Given the description of an element on the screen output the (x, y) to click on. 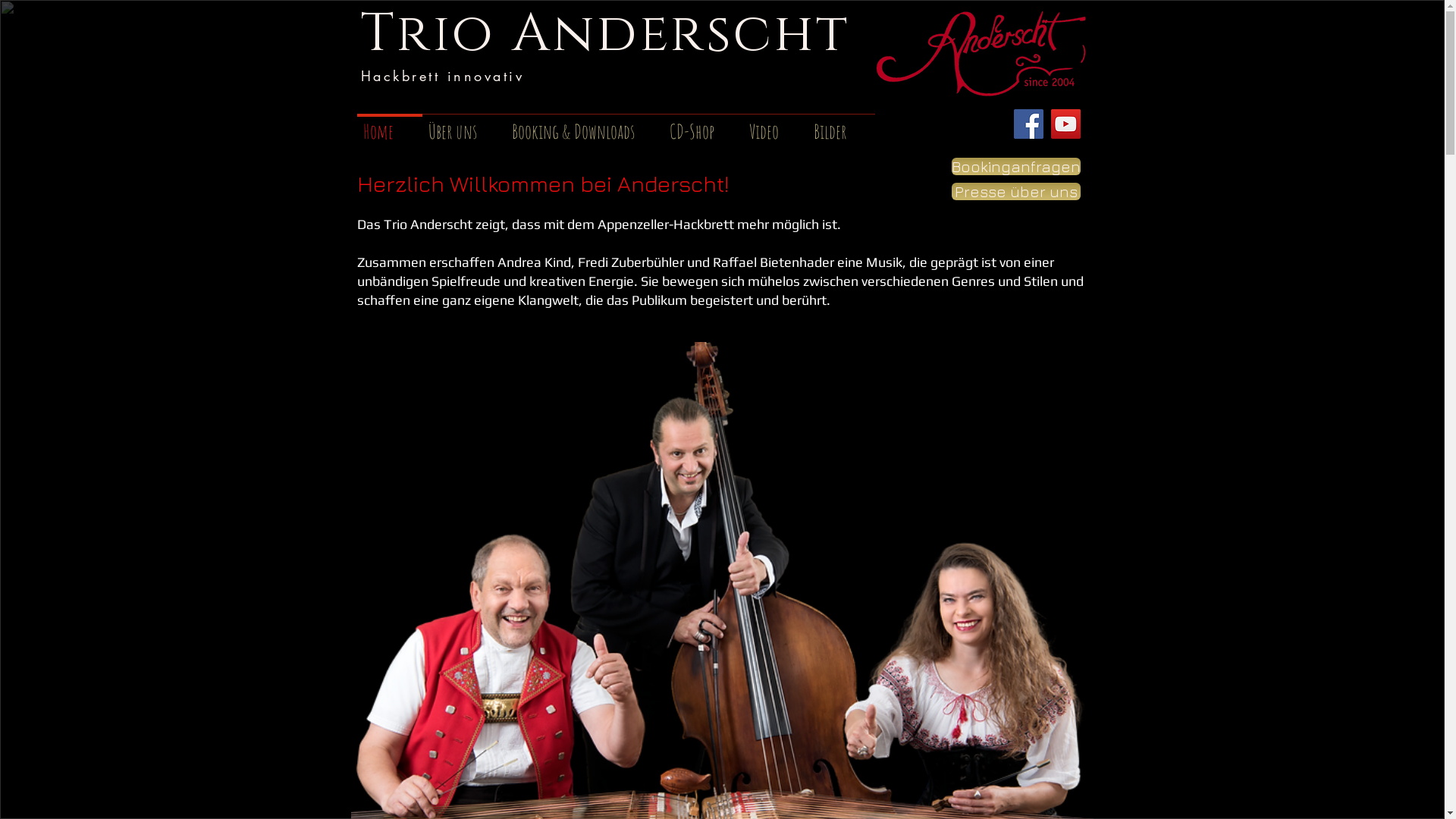
Bookinganfragen Element type: text (1014, 166)
Video Element type: text (775, 123)
Home Element type: text (388, 123)
CD-Shop Element type: text (702, 123)
Booking & Downloads Element type: text (583, 123)
Bilder Element type: text (840, 123)
